Given the description of an element on the screen output the (x, y) to click on. 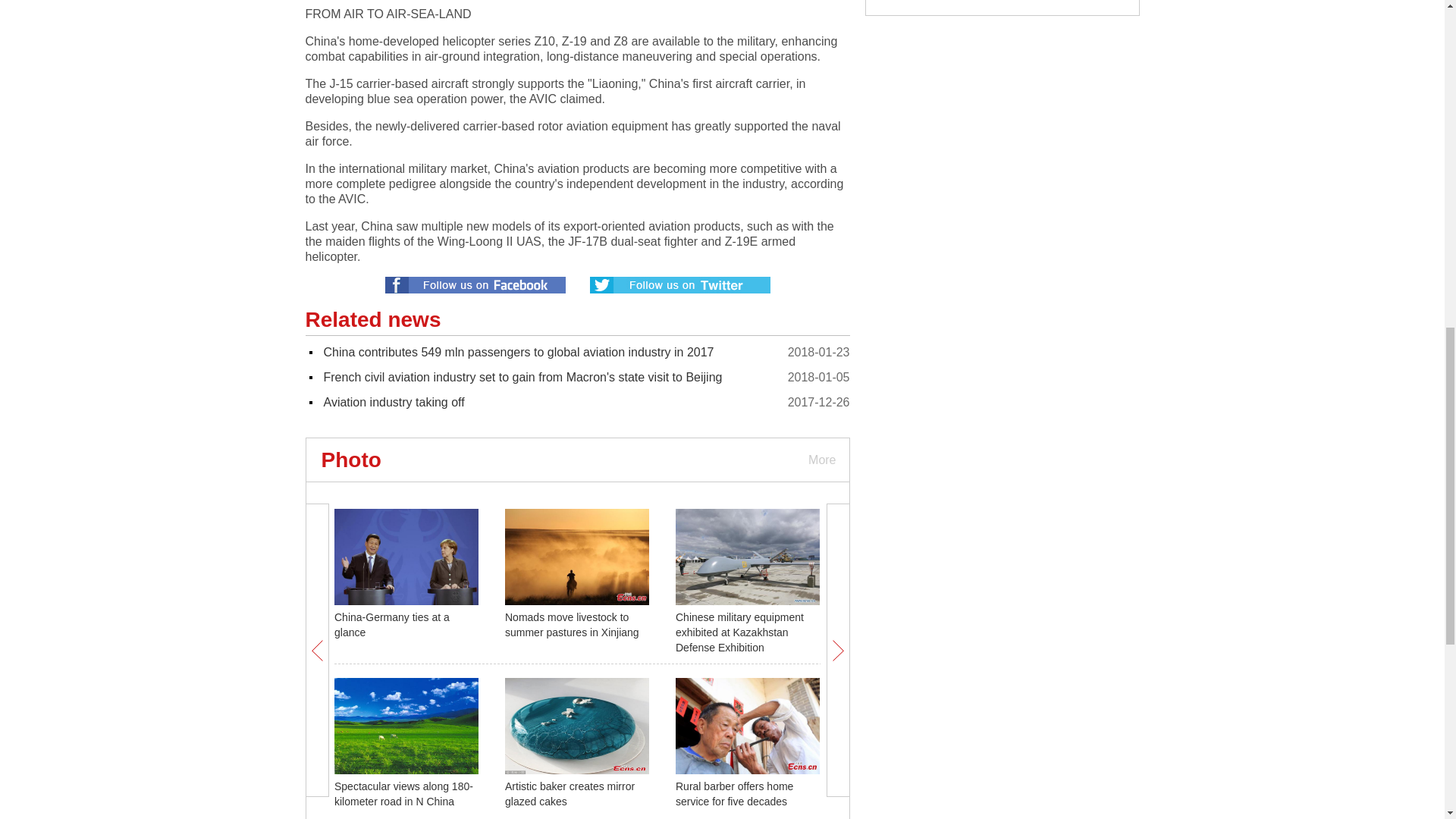
China-Germany ties at a glance (391, 624)
Aviation industry taking off (393, 401)
Artistic baker creates mirror glazed cakes (569, 793)
Nomads move livestock to summer pastures in Xinjiang (572, 624)
Spectacular views along 180-kilometer road in N China (403, 793)
